Given the description of an element on the screen output the (x, y) to click on. 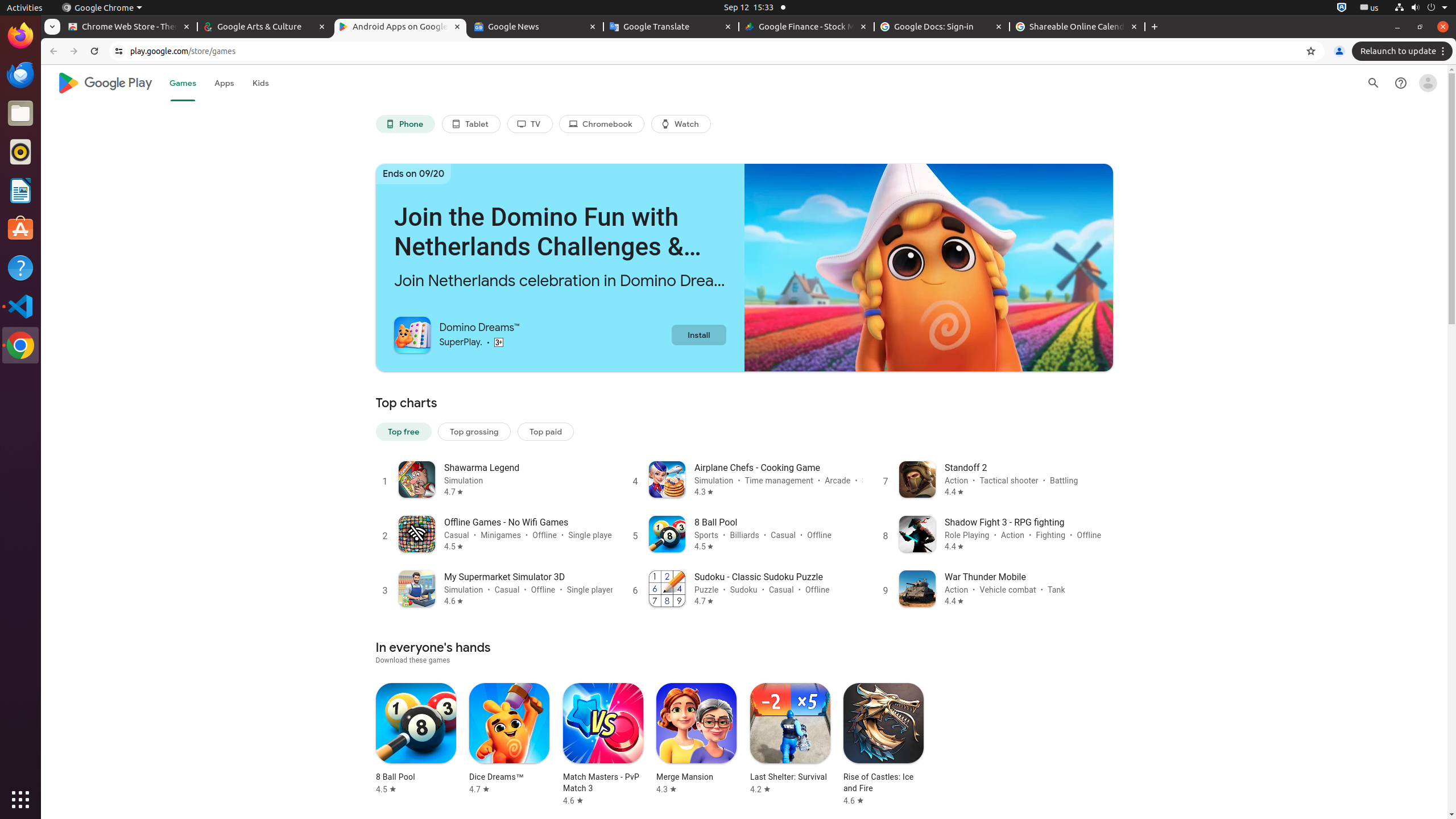
Thunderbird Mail Element type: push-button (20, 74)
Shareable Online Calendar and Scheduling - Google Calendar - Memory usage - 88.5 MB Element type: page-tab (1077, 26)
8 Ball Pool Rated 4.5 stars out of five stars Element type: link (415, 738)
Rise of Castles: Ice and Fire Rated 4.6 stars out of five stars Element type: link (883, 744)
Android Apps on Google Play Element type: page-tab (400, 26)
